Given the description of an element on the screen output the (x, y) to click on. 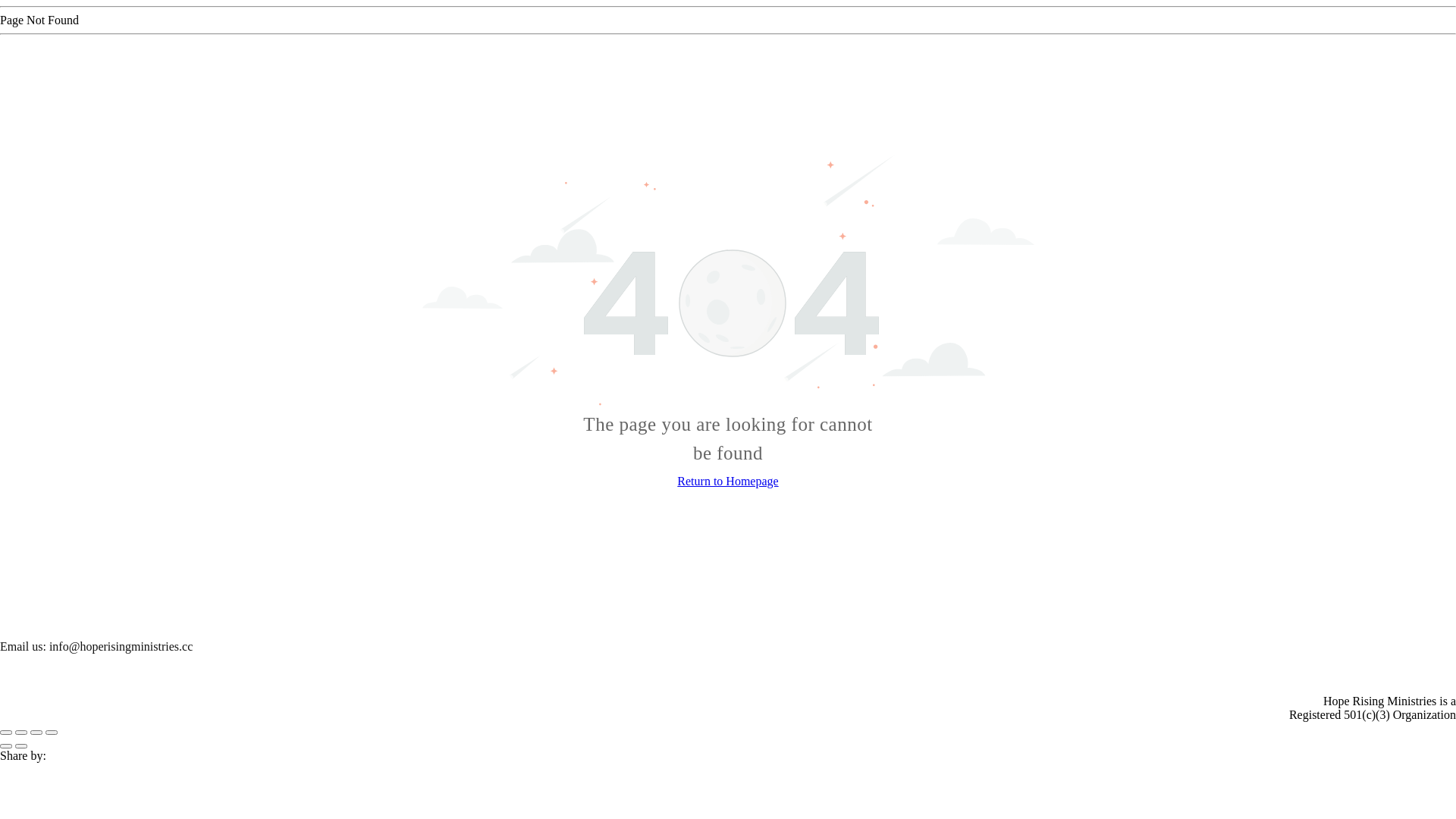
Share Element type: hover (21, 732)
Close (Esc) Element type: hover (6, 732)
Toggle fullscreen Element type: hover (36, 732)
Return to Homepage Element type: text (727, 480)
Zoom in/out Element type: hover (51, 732)
Next (arrow right) Element type: hover (21, 745)
Previous (arrow left) Element type: hover (6, 745)
